Given the description of an element on the screen output the (x, y) to click on. 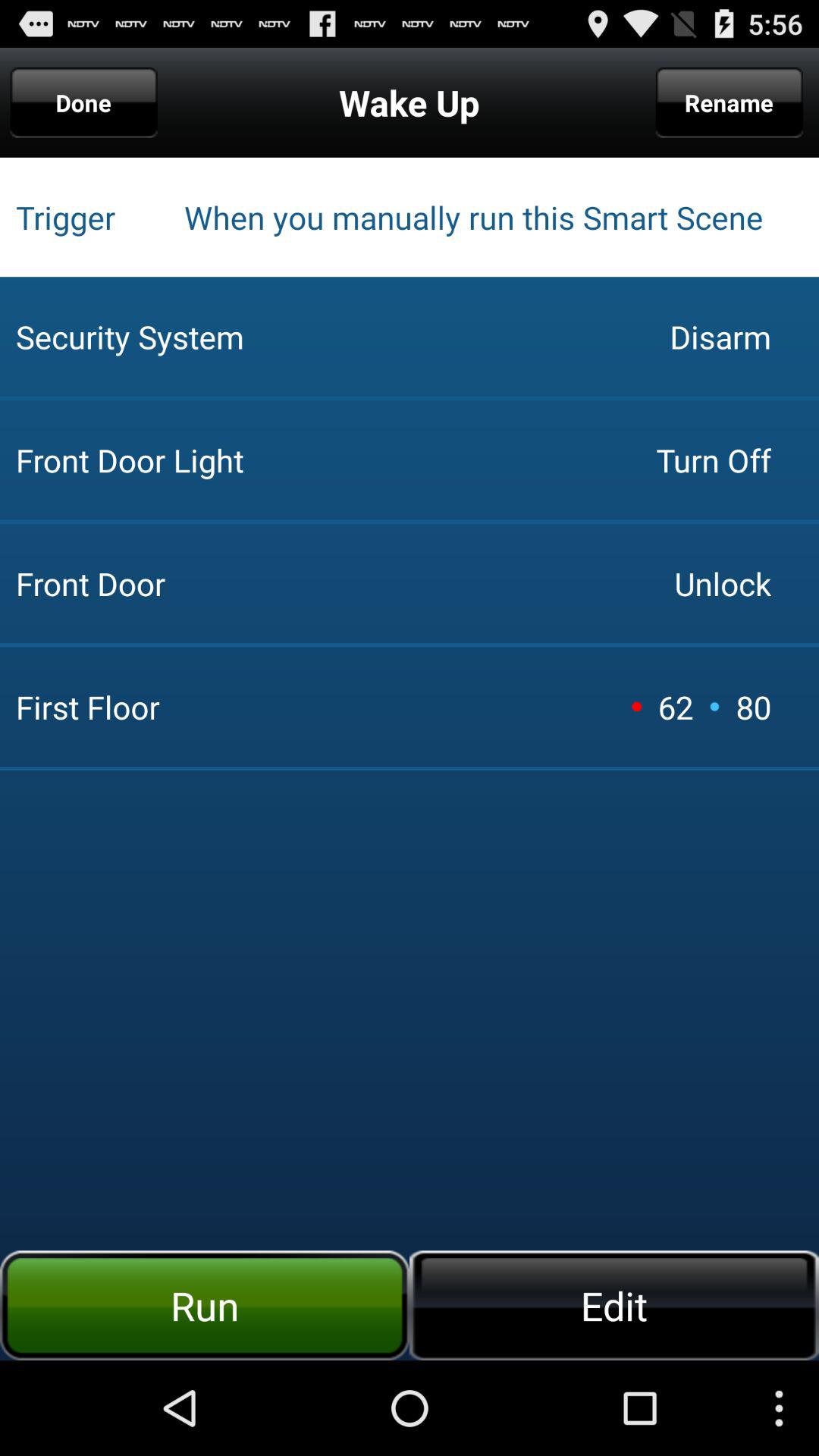
select the button above the edit item (636, 706)
